Given the description of an element on the screen output the (x, y) to click on. 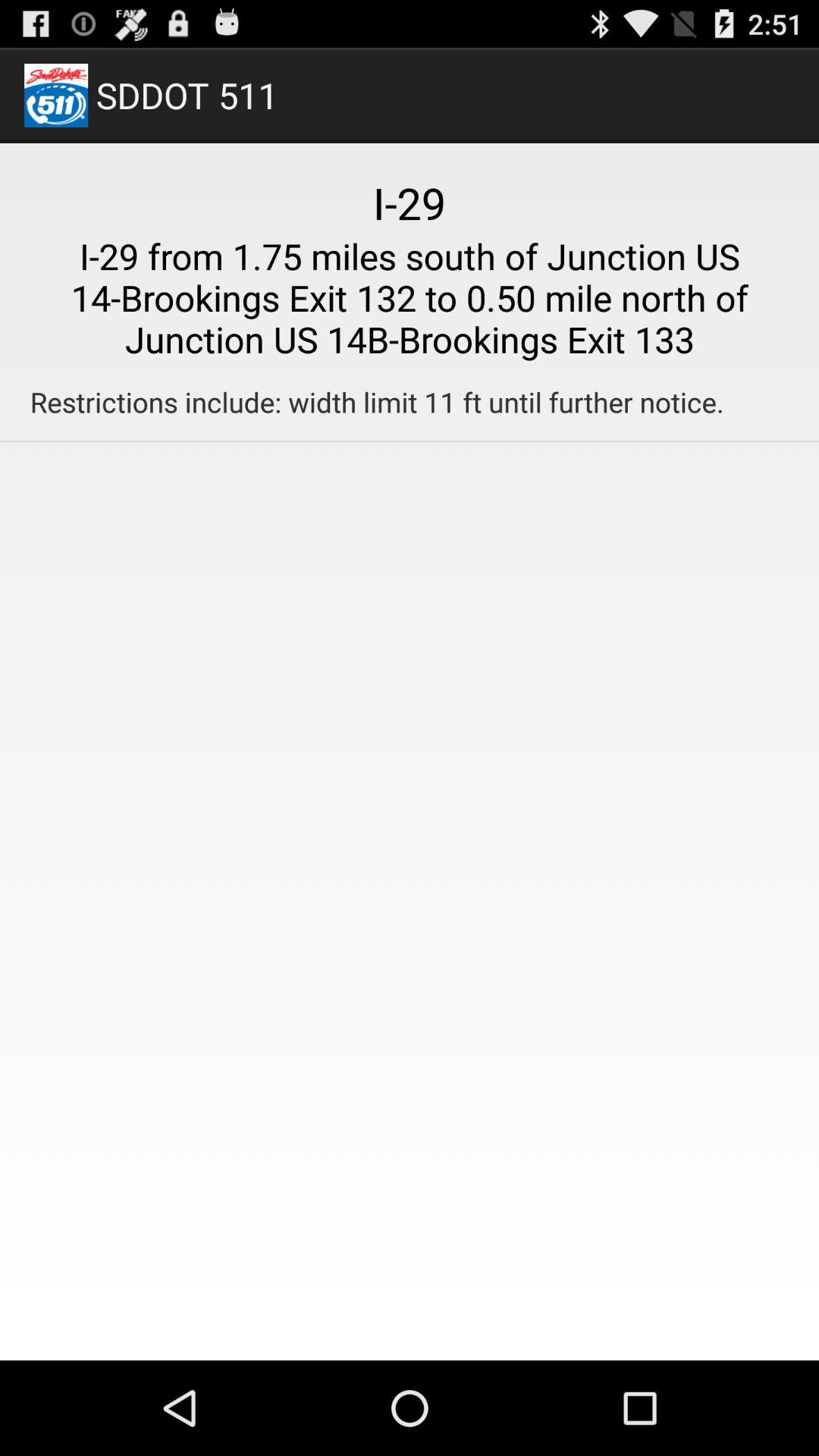
open the app below the i 29 from app (377, 401)
